Given the description of an element on the screen output the (x, y) to click on. 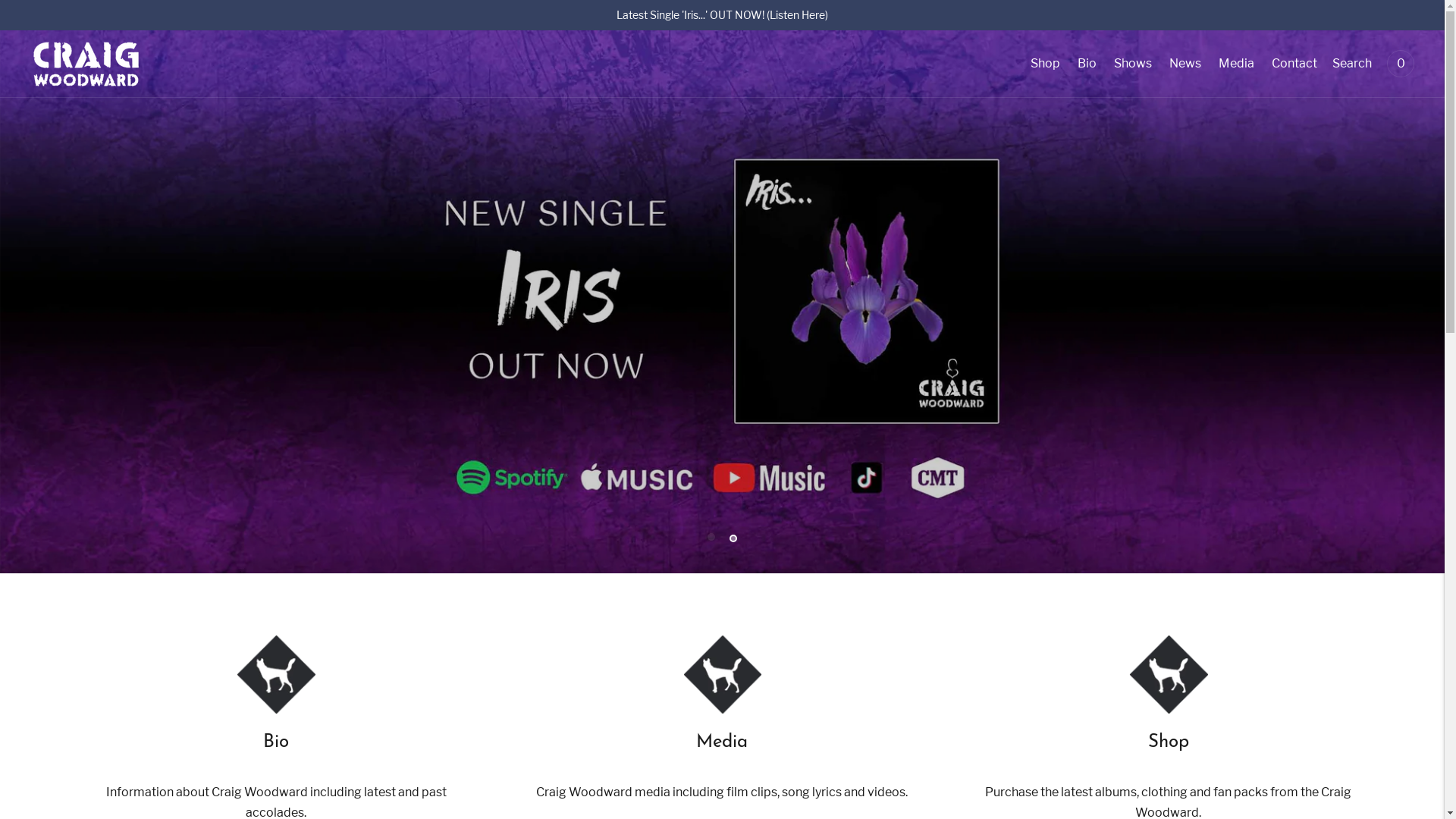
Latest Single 'Iris...' OUT NOW! (Listen Here) Element type: text (721, 14)
Search Element type: text (1351, 63)
Bio Element type: text (1086, 63)
Media Element type: text (1236, 63)
Shop Element type: text (1045, 63)
0 Element type: text (1400, 63)
News Element type: text (1185, 63)
Shows Element type: text (1132, 63)
Contact Element type: text (1294, 63)
